Given the description of an element on the screen output the (x, y) to click on. 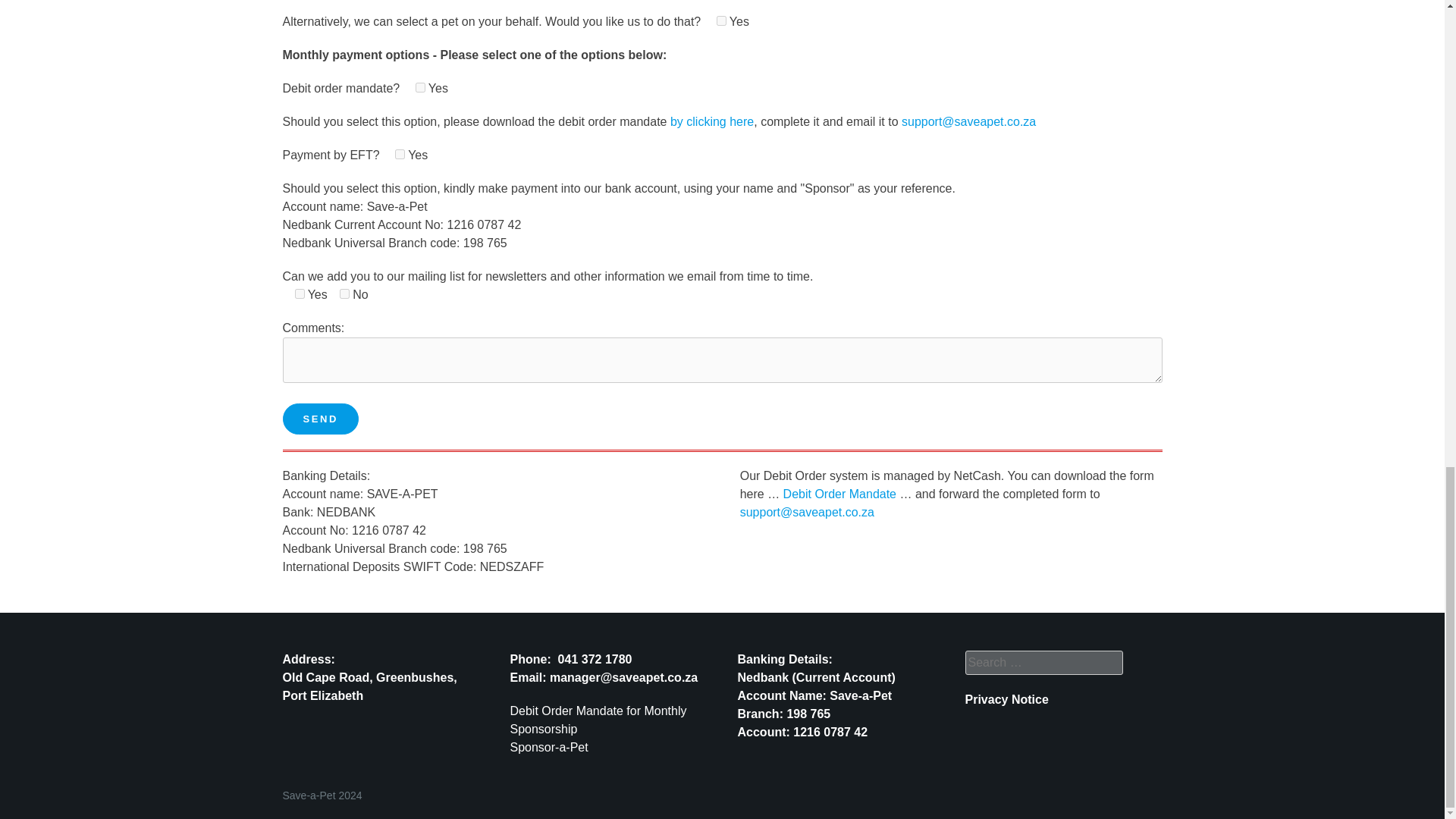
Yes (399, 153)
Save-a-Pet Debit Order Mandate (711, 121)
Debit Order Mandate (839, 493)
Send (320, 418)
Click here to Download Debit Order form (566, 710)
Send (320, 418)
Yes (419, 87)
Click here for more information on Pet Sponsorship (548, 747)
Yes (721, 20)
by clicking here (711, 121)
Yes (299, 293)
No (344, 293)
